Given the description of an element on the screen output the (x, y) to click on. 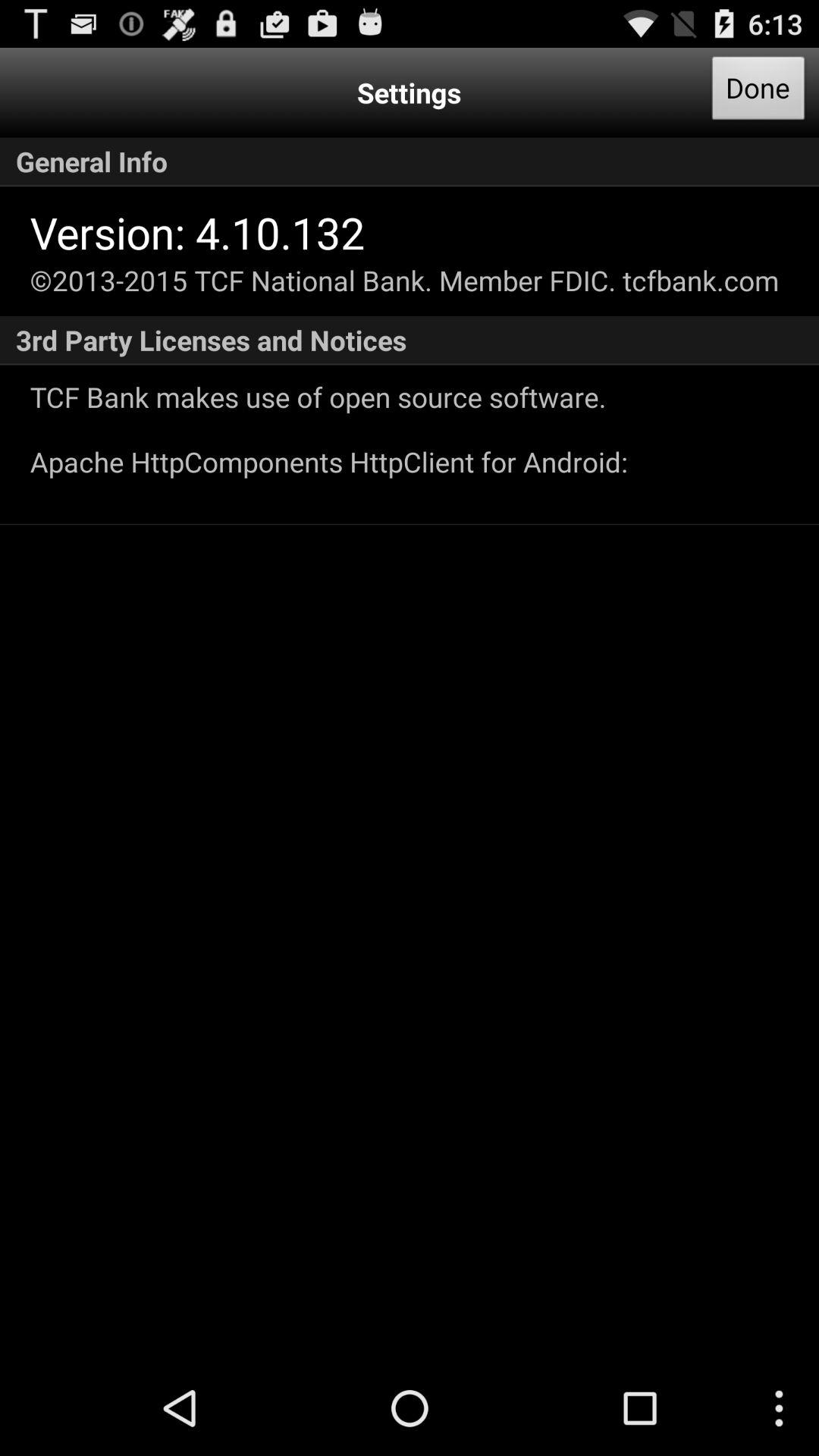
flip to 3rd party licenses item (409, 340)
